Given the description of an element on the screen output the (x, y) to click on. 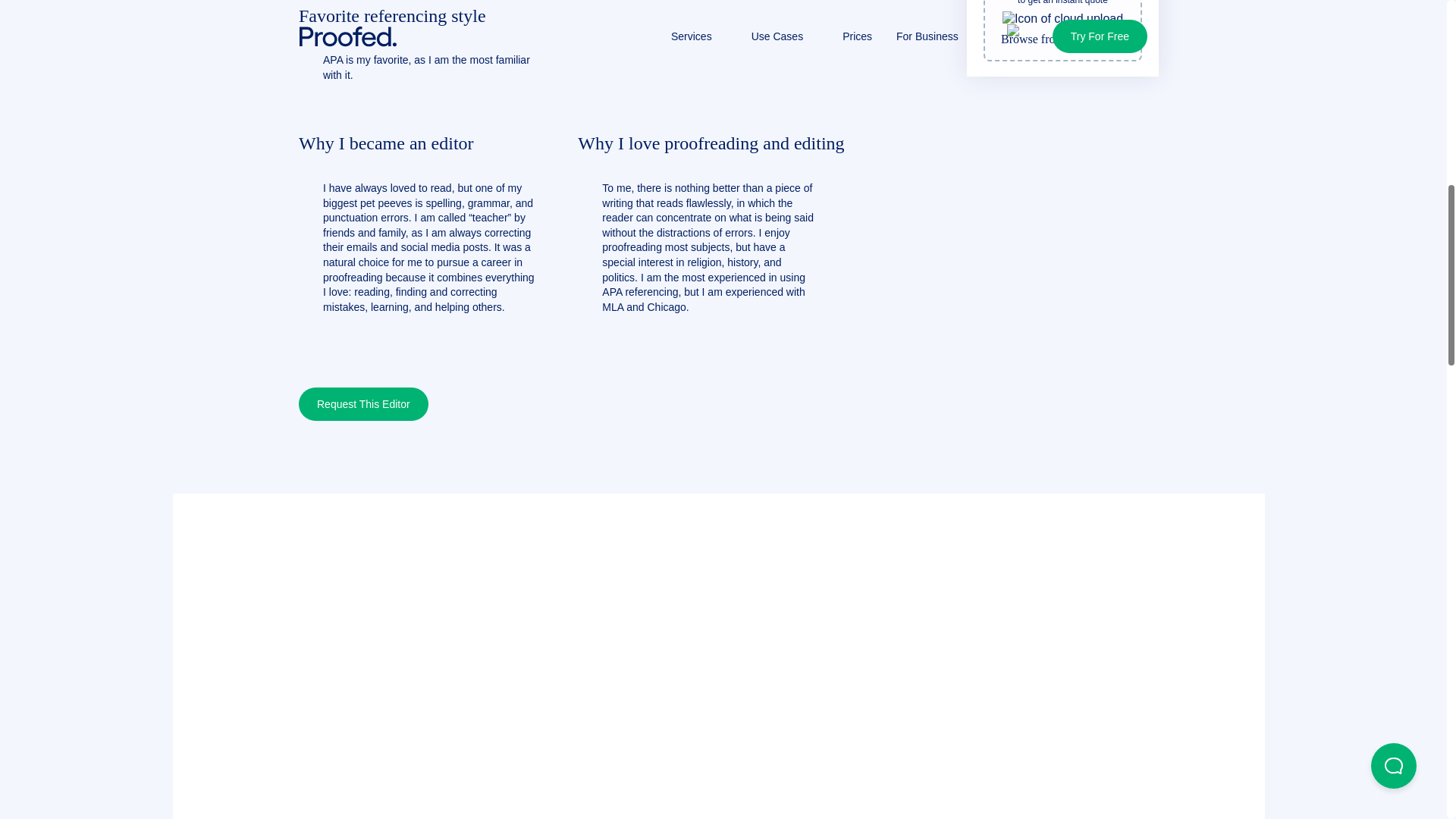
Request This Editor (363, 403)
